Given the description of an element on the screen output the (x, y) to click on. 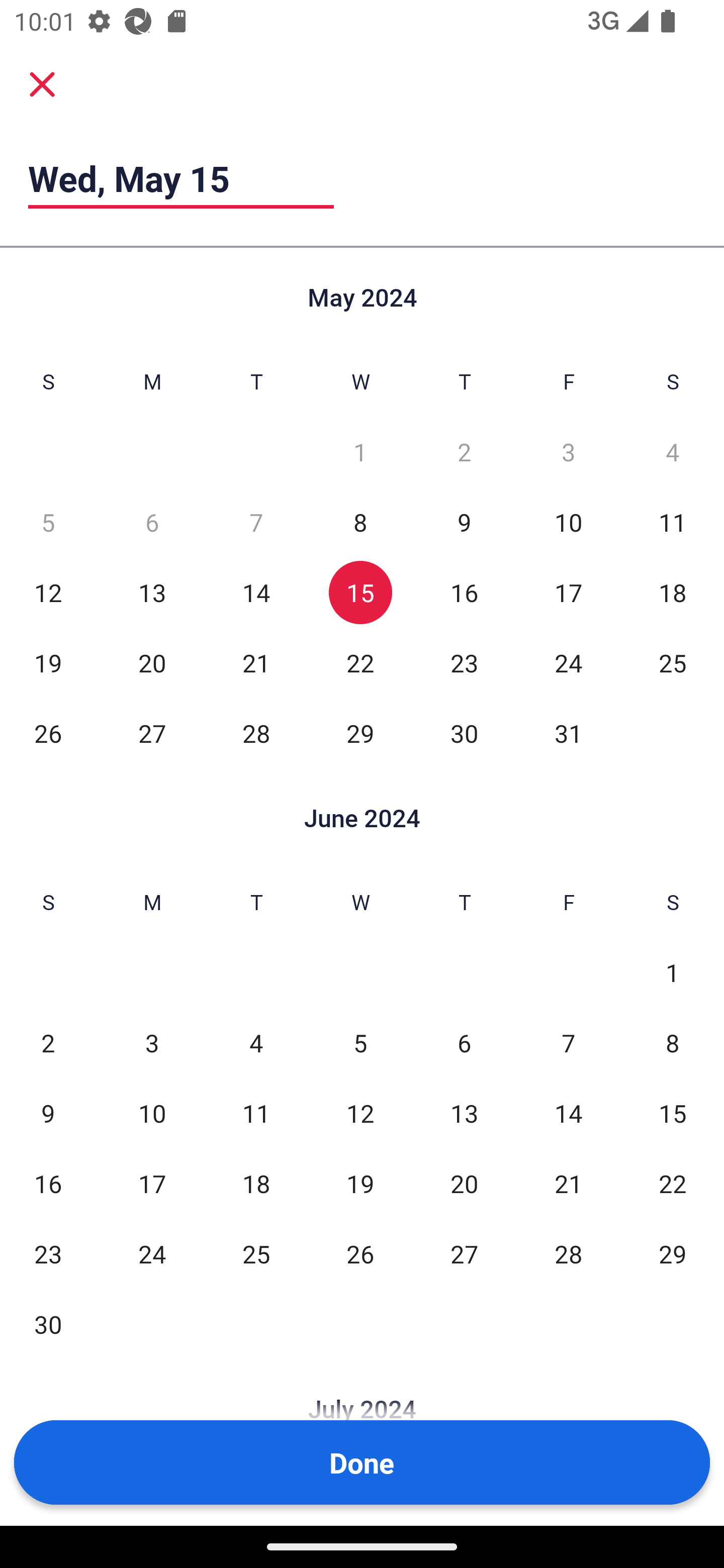
Cancel (41, 83)
Wed, May 15 (180, 178)
1 Wed, May 1, Not Selected (360, 452)
2 Thu, May 2, Not Selected (464, 452)
3 Fri, May 3, Not Selected (568, 452)
4 Sat, May 4, Not Selected (672, 452)
5 Sun, May 5, Not Selected (48, 521)
6 Mon, May 6, Not Selected (152, 521)
7 Tue, May 7, Not Selected (256, 521)
8 Wed, May 8, Not Selected (360, 521)
9 Thu, May 9, Not Selected (464, 521)
10 Fri, May 10, Not Selected (568, 521)
11 Sat, May 11, Not Selected (672, 521)
12 Sun, May 12, Not Selected (48, 591)
13 Mon, May 13, Not Selected (152, 591)
14 Tue, May 14, Not Selected (256, 591)
15 Wed, May 15, Selected (360, 591)
16 Thu, May 16, Not Selected (464, 591)
17 Fri, May 17, Not Selected (568, 591)
18 Sat, May 18, Not Selected (672, 591)
19 Sun, May 19, Not Selected (48, 662)
20 Mon, May 20, Not Selected (152, 662)
21 Tue, May 21, Not Selected (256, 662)
22 Wed, May 22, Not Selected (360, 662)
23 Thu, May 23, Not Selected (464, 662)
24 Fri, May 24, Not Selected (568, 662)
25 Sat, May 25, Not Selected (672, 662)
26 Sun, May 26, Not Selected (48, 732)
27 Mon, May 27, Not Selected (152, 732)
28 Tue, May 28, Not Selected (256, 732)
29 Wed, May 29, Not Selected (360, 732)
30 Thu, May 30, Not Selected (464, 732)
31 Fri, May 31, Not Selected (568, 732)
1 Sat, Jun 1, Not Selected (672, 972)
2 Sun, Jun 2, Not Selected (48, 1043)
3 Mon, Jun 3, Not Selected (152, 1043)
4 Tue, Jun 4, Not Selected (256, 1043)
5 Wed, Jun 5, Not Selected (360, 1043)
6 Thu, Jun 6, Not Selected (464, 1043)
7 Fri, Jun 7, Not Selected (568, 1043)
8 Sat, Jun 8, Not Selected (672, 1043)
9 Sun, Jun 9, Not Selected (48, 1112)
10 Mon, Jun 10, Not Selected (152, 1112)
11 Tue, Jun 11, Not Selected (256, 1112)
12 Wed, Jun 12, Not Selected (360, 1112)
13 Thu, Jun 13, Not Selected (464, 1112)
14 Fri, Jun 14, Not Selected (568, 1112)
15 Sat, Jun 15, Not Selected (672, 1112)
16 Sun, Jun 16, Not Selected (48, 1182)
17 Mon, Jun 17, Not Selected (152, 1182)
18 Tue, Jun 18, Not Selected (256, 1182)
19 Wed, Jun 19, Not Selected (360, 1182)
20 Thu, Jun 20, Not Selected (464, 1182)
21 Fri, Jun 21, Not Selected (568, 1182)
22 Sat, Jun 22, Not Selected (672, 1182)
23 Sun, Jun 23, Not Selected (48, 1253)
24 Mon, Jun 24, Not Selected (152, 1253)
25 Tue, Jun 25, Not Selected (256, 1253)
26 Wed, Jun 26, Not Selected (360, 1253)
27 Thu, Jun 27, Not Selected (464, 1253)
28 Fri, Jun 28, Not Selected (568, 1253)
29 Sat, Jun 29, Not Selected (672, 1253)
30 Sun, Jun 30, Not Selected (48, 1323)
Done Button Done (361, 1462)
